Given the description of an element on the screen output the (x, y) to click on. 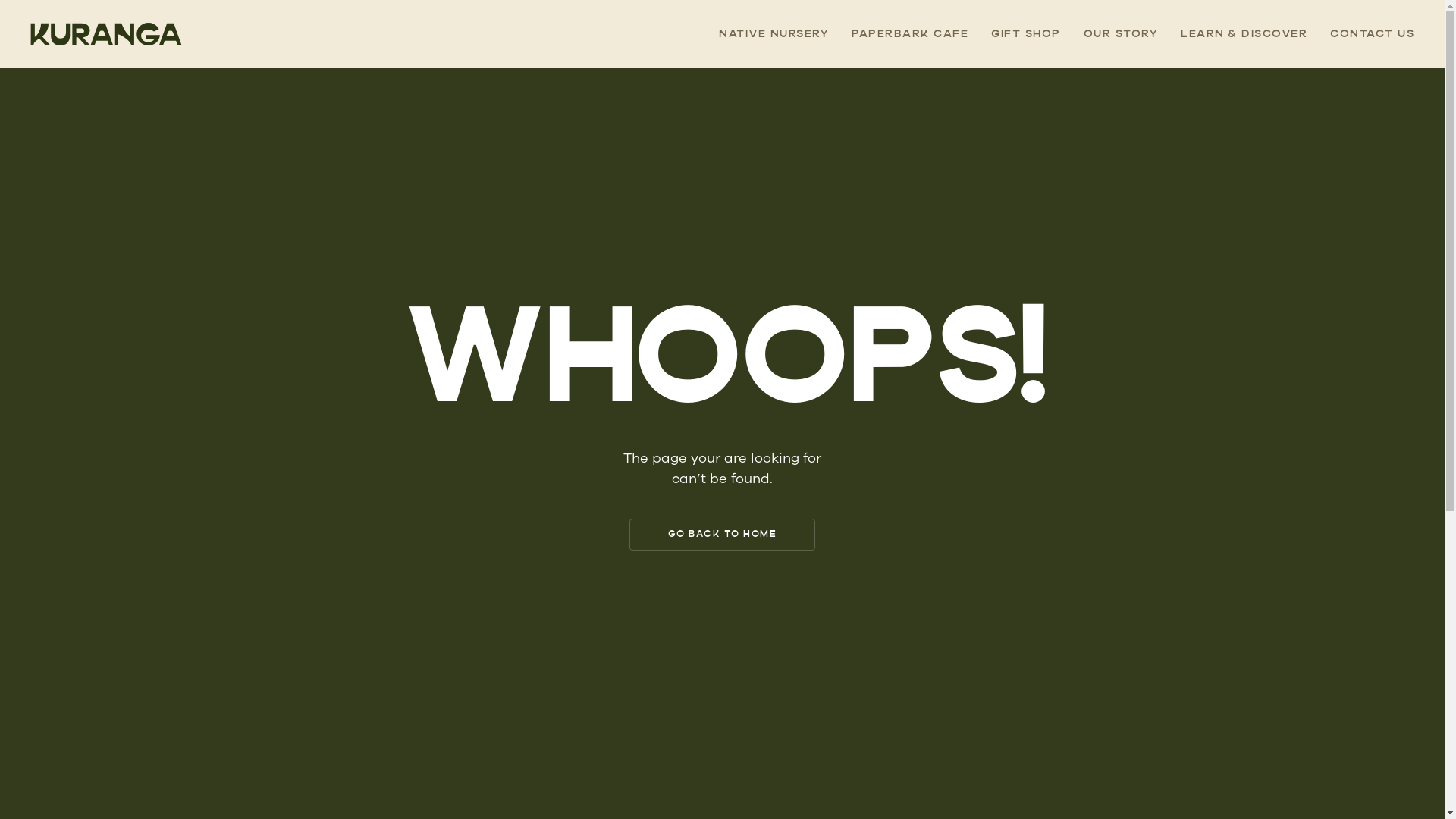
LEARN & DISCOVER Element type: text (1243, 34)
GIFT SHOP Element type: text (1025, 34)
CONTACT US Element type: text (1371, 34)
GO BACK TO HOME Element type: text (722, 534)
NATIVE NURSERY Element type: text (773, 34)
PAPERBARK CAFE Element type: text (909, 34)
OUR STORY Element type: text (1121, 34)
